Given the description of an element on the screen output the (x, y) to click on. 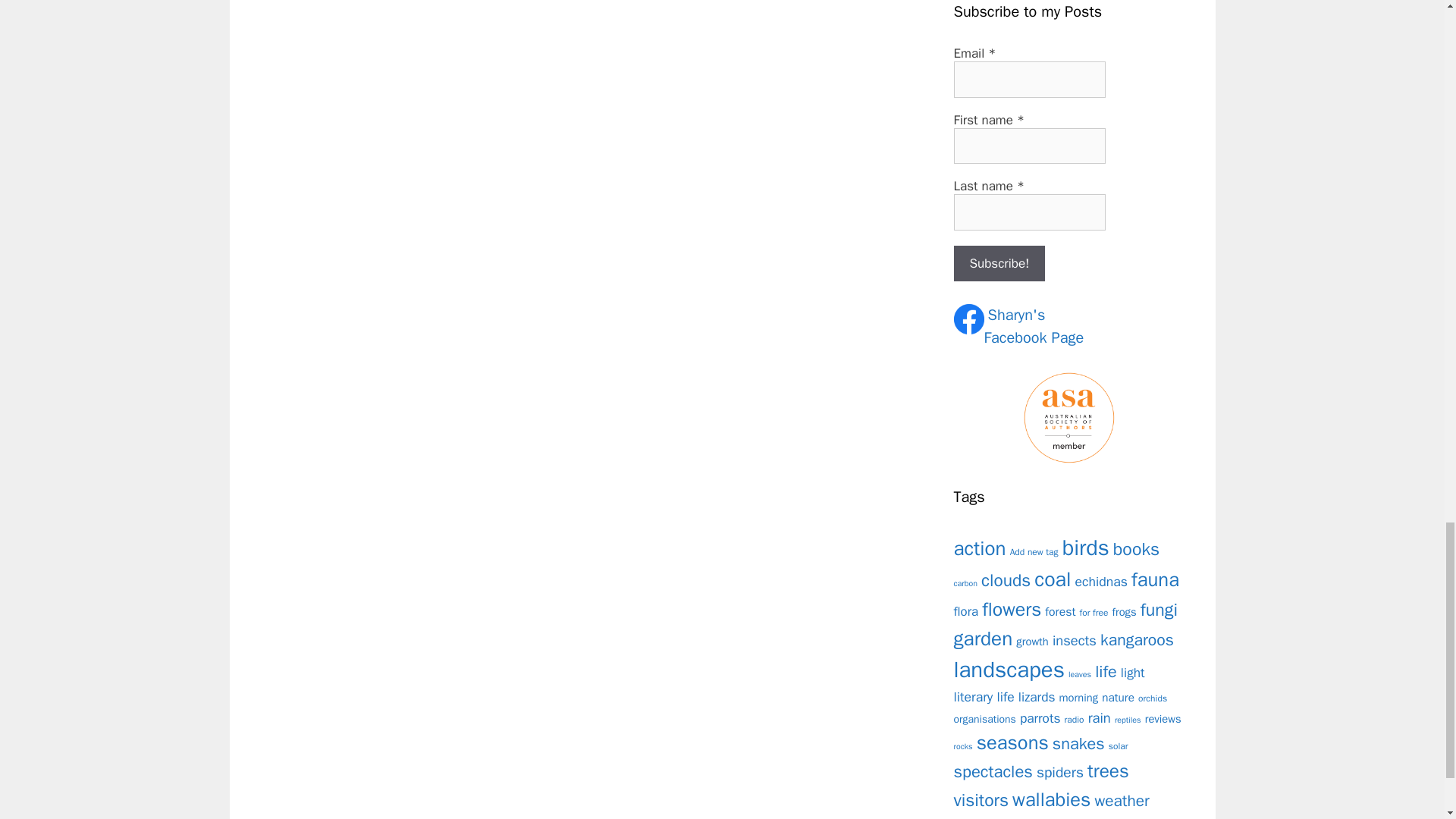
for free (1094, 612)
flowers (1011, 608)
Subscribe! (999, 263)
birds (1034, 326)
flora (1085, 547)
Subscribe! (965, 611)
First name (999, 263)
echidnas (1029, 145)
clouds (1100, 581)
Add new tag (1005, 580)
books (1034, 551)
action (1135, 549)
Email (979, 548)
carbon (1029, 79)
